Given the description of an element on the screen output the (x, y) to click on. 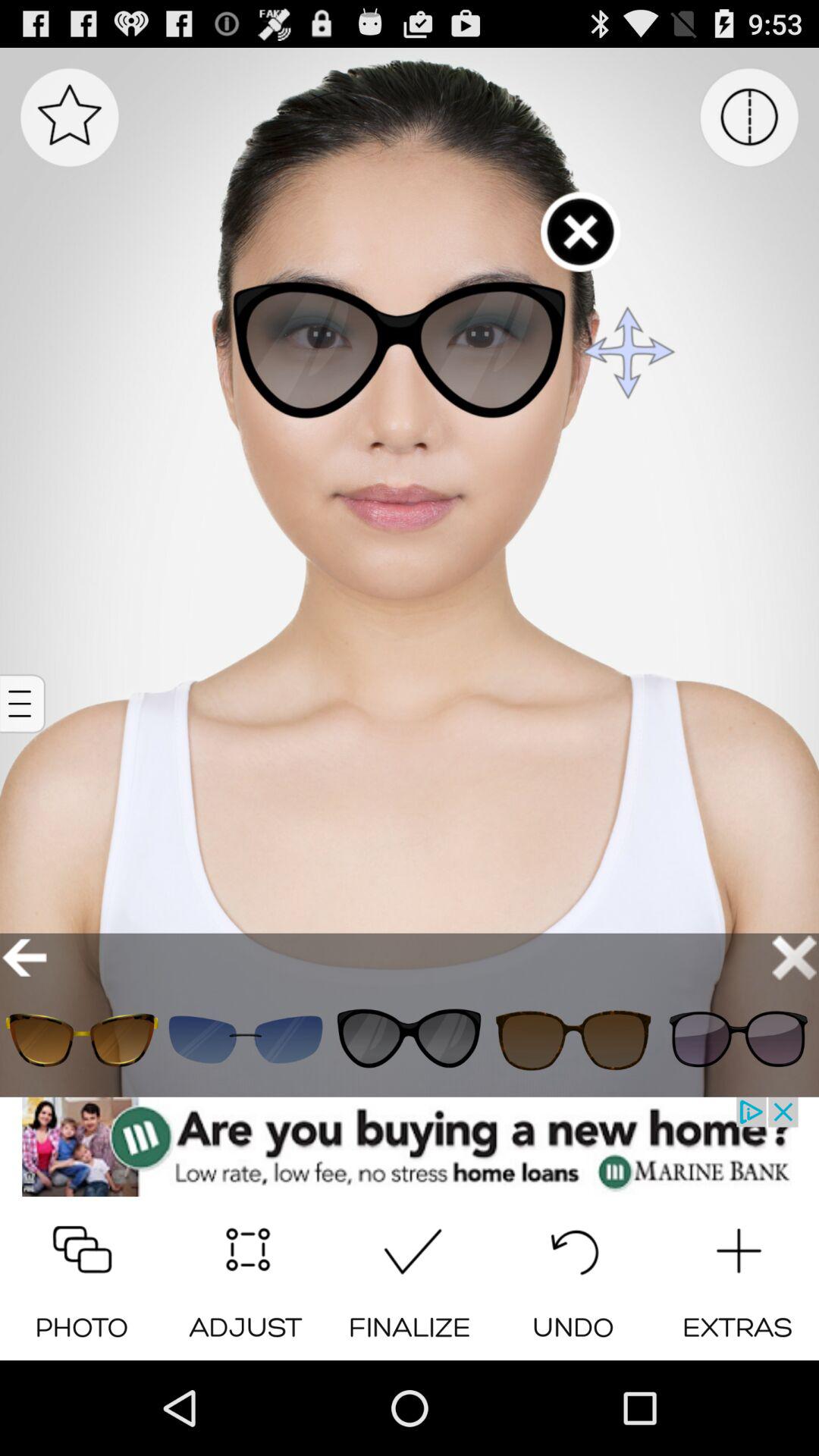
try this item on (81, 1039)
